Given the description of an element on the screen output the (x, y) to click on. 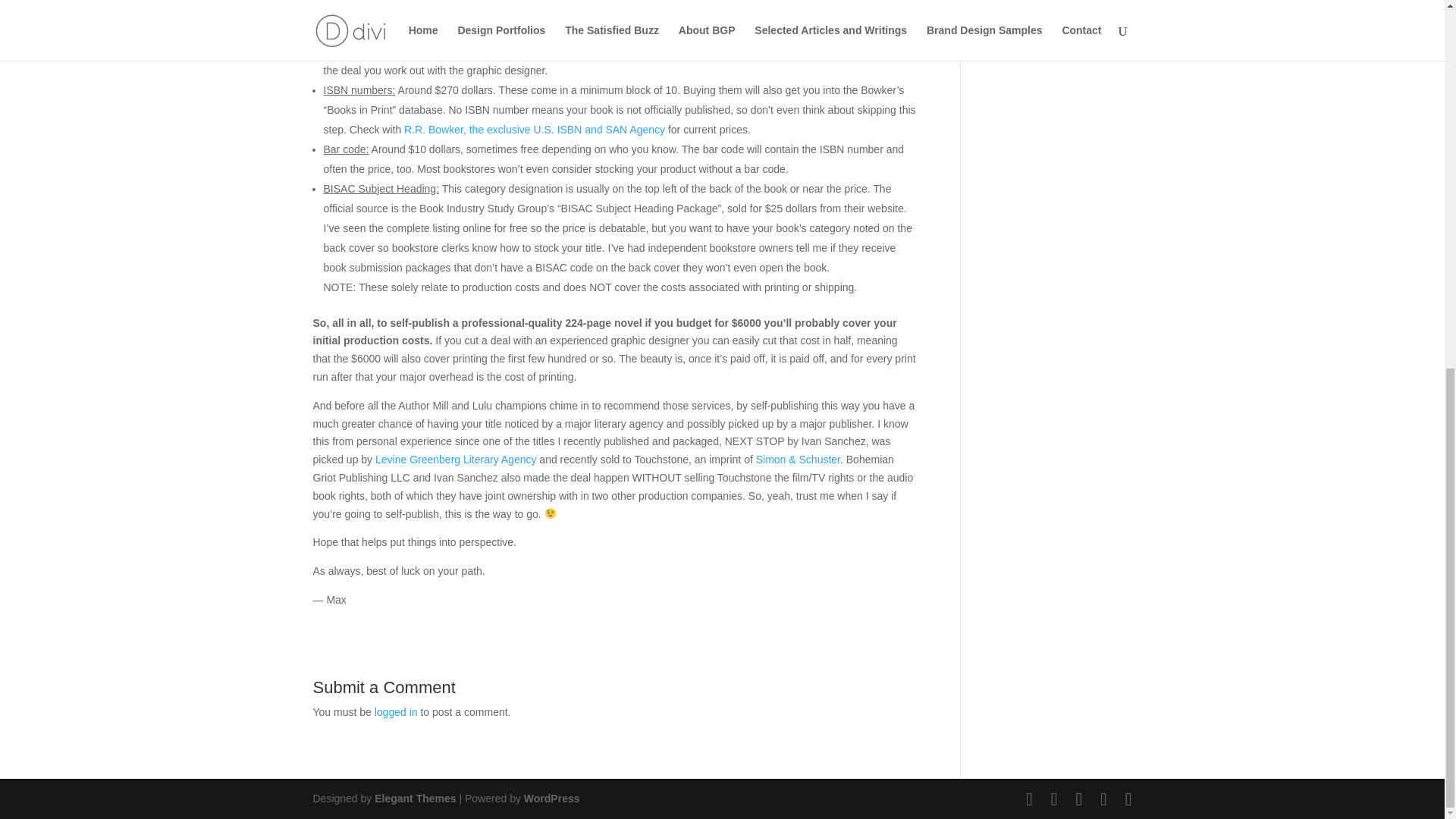
logged in (395, 711)
R.R. Bowker, the exclusive U.S. ISBN and SAN Agency (534, 129)
Levine Greenberg Literary Agency (455, 459)
Premium WordPress Themes (414, 798)
Elegant Themes (414, 798)
WordPress (551, 798)
